Given the description of an element on the screen output the (x, y) to click on. 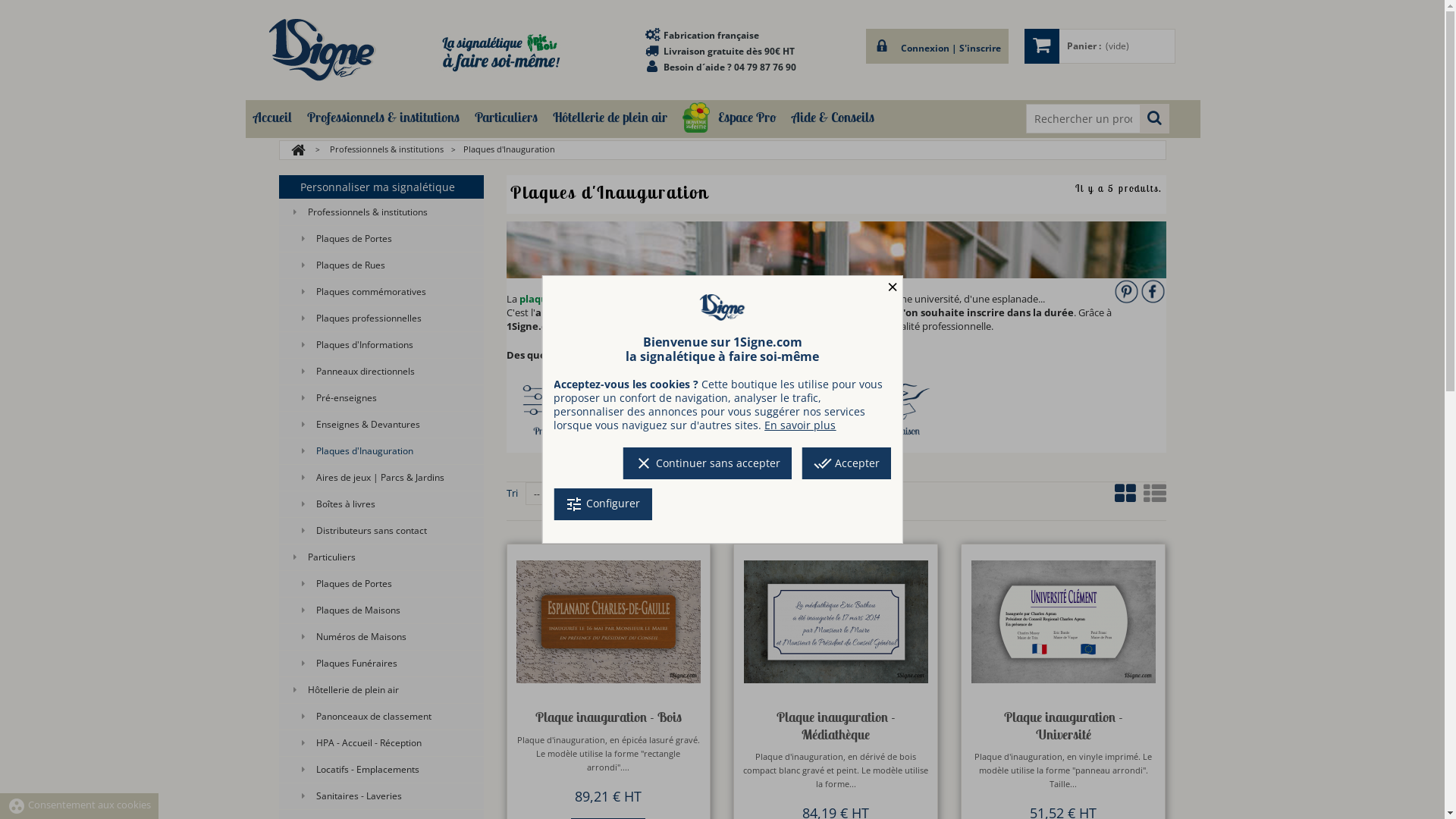
personnaliser votre plaque d'inauguration Element type: hover (836, 249)
clear Continuer sans accepter Element type: text (707, 463)
Distributeurs sans contact Element type: text (381, 530)
Locatifs - Emplacements Element type: text (381, 769)
Aires de jeux | Parcs & Jardins Element type: text (381, 477)
Plaques de Portes Element type: text (381, 238)
1 Signe Element type: hover (322, 49)
Connexion | S'inscrire Element type: text (937, 45)
group_work Consentement aux cookies Element type: text (78, 804)
Plaque inauguration - Bois Element type: hover (607, 621)
Aide & Conseils Element type: text (832, 117)
1signe.com - signaletique creative personnalisee Element type: hover (721, 307)
tune Configurer Element type: text (602, 504)
Plaques de Portes Element type: text (381, 583)
Panonceaux de classement Element type: text (381, 716)
Plaques d'Inauguration Element type: text (381, 451)
Particuliers Element type: text (381, 557)
Panier :
(vide) Element type: text (1099, 45)
contactez - nous Element type: text (798, 354)
Professionnels & institutions Element type: text (385, 148)
Panneaux directionnels Element type: text (381, 371)
Enseignes & Devantures Element type: text (381, 424)
Plaques de Maisons Element type: text (381, 610)
Sanitaires - Laveries Element type: text (381, 796)
En savoir plus Element type: text (799, 424)
Plaques professionnelles Element type: text (381, 318)
done_all Accepter Element type: text (846, 463)
Plaques de Rues Element type: text (381, 265)
Plaques d'Informations Element type: text (381, 344)
Professionnels & institutions Element type: text (381, 212)
Plaque inauguration - Bois Element type: text (608, 716)
Accueil Element type: text (272, 117)
